Given the description of an element on the screen output the (x, y) to click on. 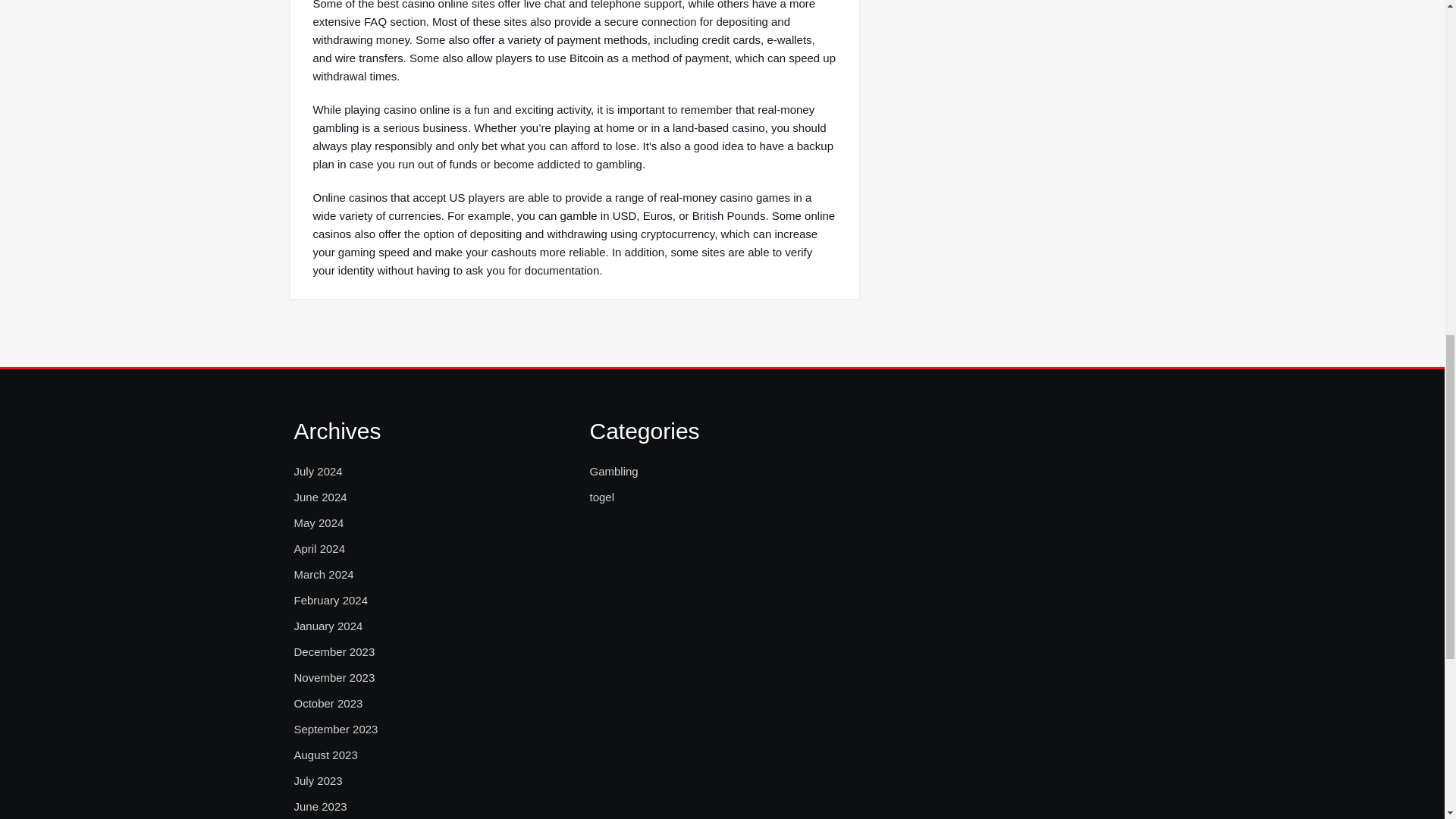
June 2024 (320, 497)
May 2024 (318, 523)
November 2023 (334, 678)
April 2024 (320, 548)
January 2024 (328, 626)
February 2024 (331, 600)
December 2023 (334, 651)
October 2023 (328, 703)
March 2024 (323, 574)
June 2023 (320, 806)
July 2023 (318, 781)
September 2023 (336, 729)
August 2023 (326, 755)
Gambling (613, 471)
July 2024 (318, 471)
